Given the description of an element on the screen output the (x, y) to click on. 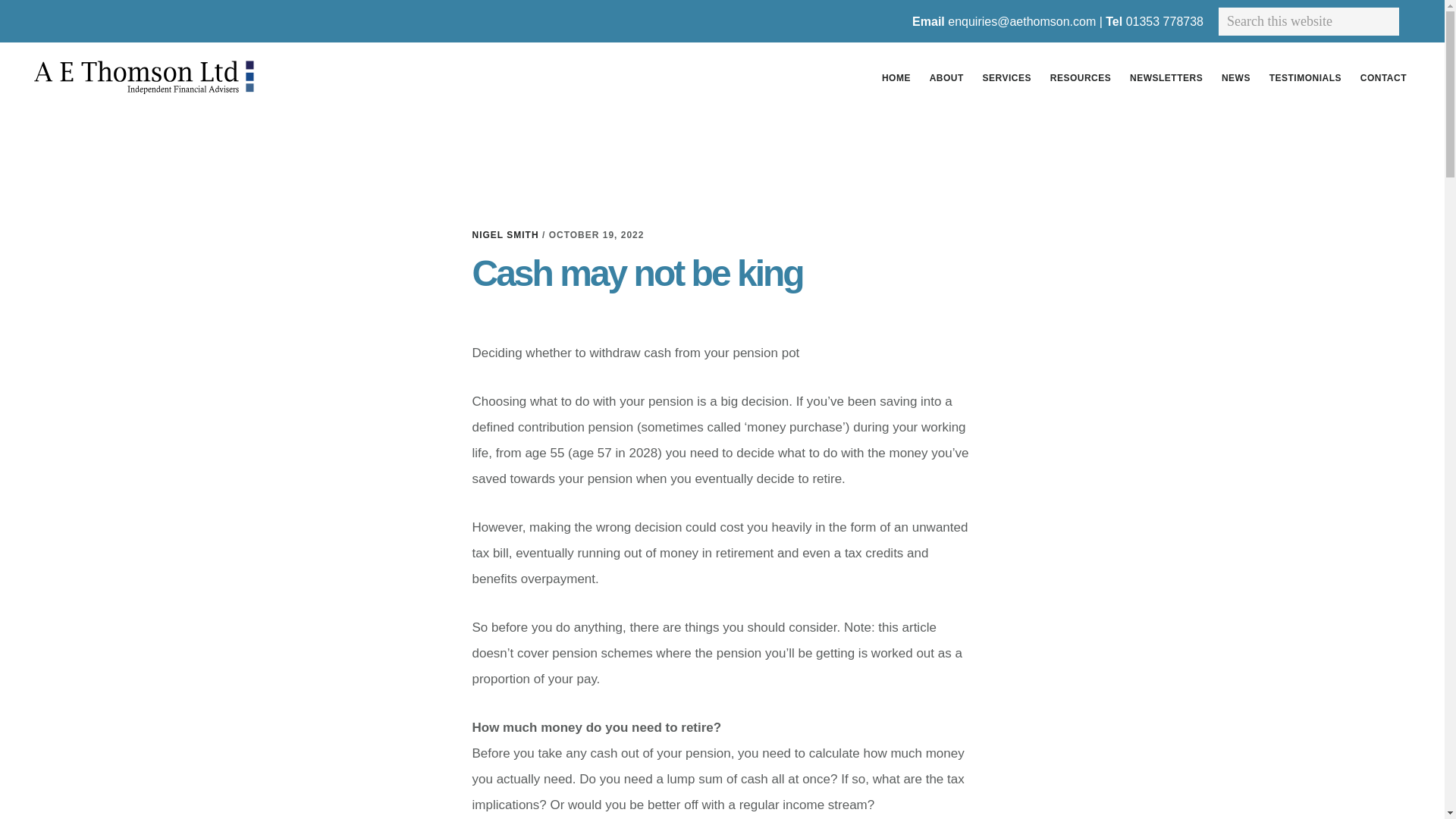
CONTACT (1382, 78)
TESTIMONIALS (1305, 78)
NEWSLETTERS (1165, 78)
NEWS (1235, 78)
SERVICES (1007, 78)
HOME (896, 78)
RESOURCES (1080, 78)
NIGEL SMITH (504, 234)
ABOUT (946, 78)
